Given the description of an element on the screen output the (x, y) to click on. 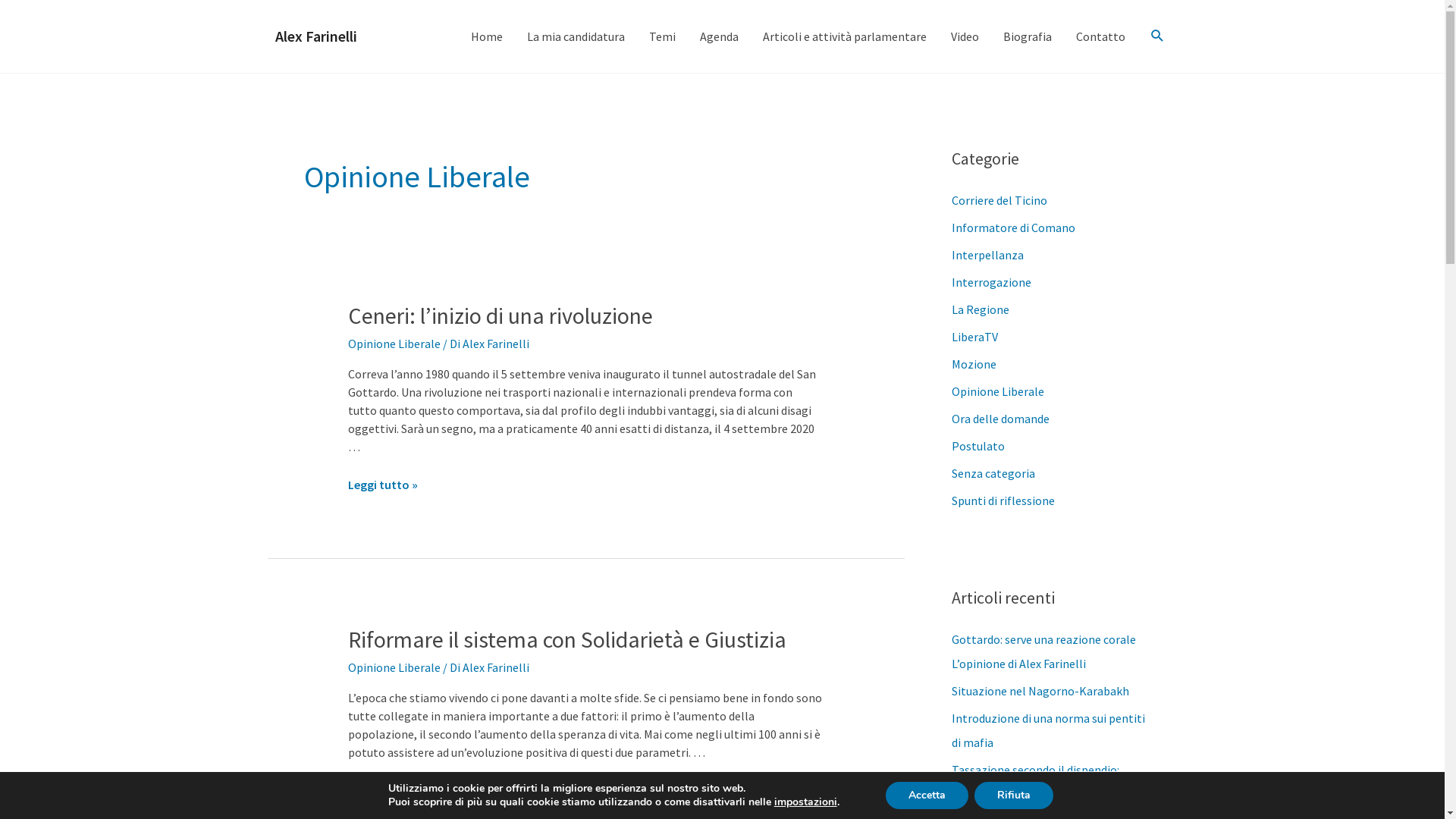
Accetta Element type: text (926, 795)
impostazioni Element type: text (805, 802)
Video Element type: text (964, 36)
Postulato Element type: text (977, 445)
Biografia Element type: text (1026, 36)
Ora delle domande Element type: text (999, 418)
Alex Farinelli Element type: text (495, 666)
Opinione Liberale Element type: text (394, 666)
Alex Farinelli Element type: text (315, 35)
Interrogazione Element type: text (990, 281)
Introduzione di una norma sui pentiti di mafia Element type: text (1047, 729)
Mozione Element type: text (972, 363)
Contatto Element type: text (1099, 36)
Opinione Liberale Element type: text (394, 343)
Interpellanza Element type: text (986, 254)
Corriere del Ticino Element type: text (998, 199)
Temi Element type: text (662, 36)
LiberaTV Element type: text (973, 336)
Spunti di riflessione Element type: text (1002, 500)
La mia candidatura Element type: text (575, 36)
Home Element type: text (486, 36)
Senza categoria Element type: text (992, 472)
Alex Farinelli Element type: text (495, 343)
Situazione nel Nagorno-Karabakh Element type: text (1039, 690)
Informatore di Comano Element type: text (1012, 227)
Rifiuta Element type: text (1013, 795)
La Regione Element type: text (979, 308)
Agenda Element type: text (718, 36)
Tassazione secondo il dispendio: tendenze ed effetti Element type: text (1034, 781)
Opinione Liberale Element type: text (996, 390)
